Given the description of an element on the screen output the (x, y) to click on. 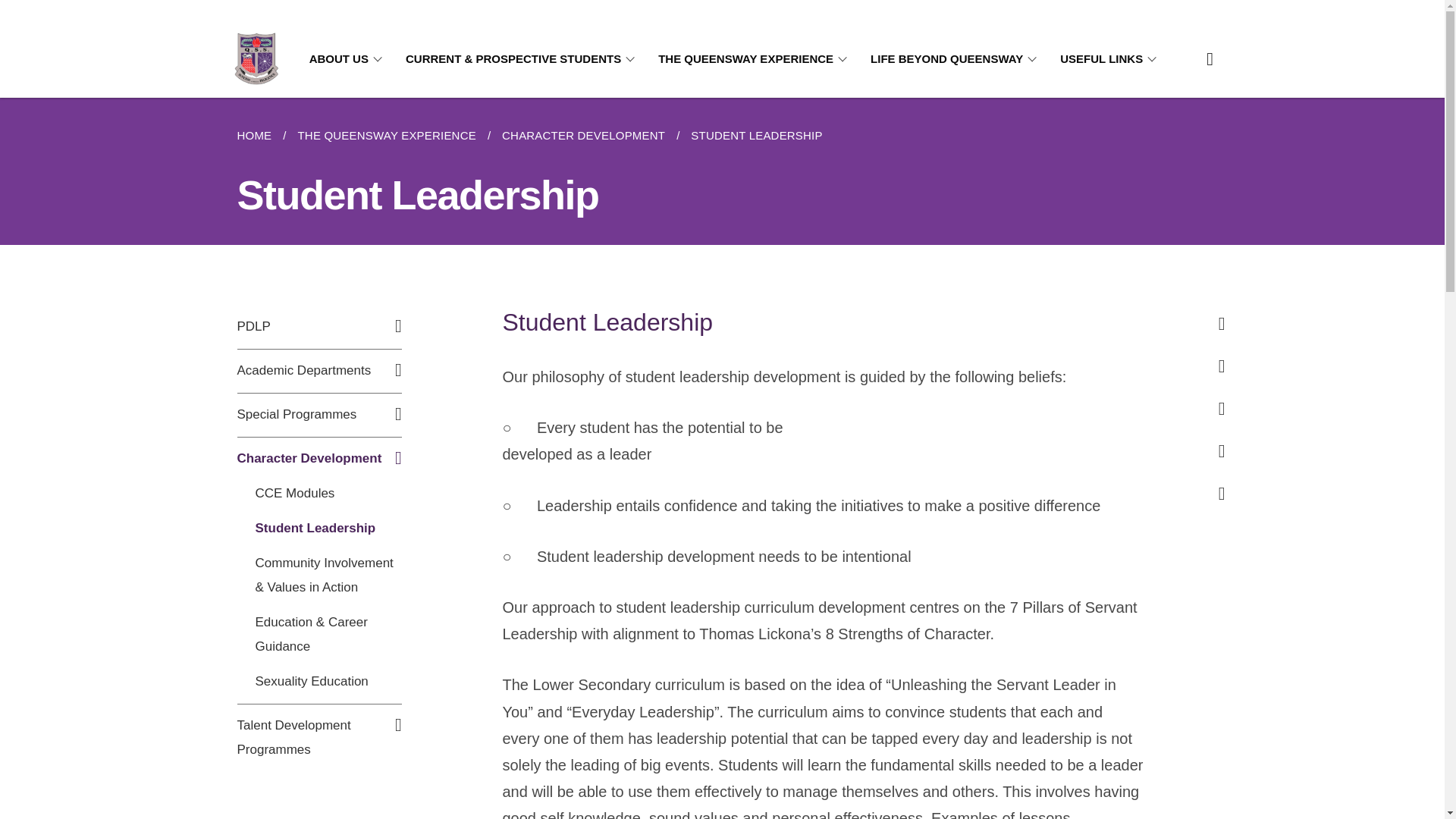
THE QUEENSWAY EXPERIENCE (754, 59)
ABOUT US (347, 59)
HOME (258, 135)
THE QUEENSWAY EXPERIENCE (385, 135)
USEFUL LINKS (1110, 59)
LIFE BEYOND QUEENSWAY (956, 59)
